Given the description of an element on the screen output the (x, y) to click on. 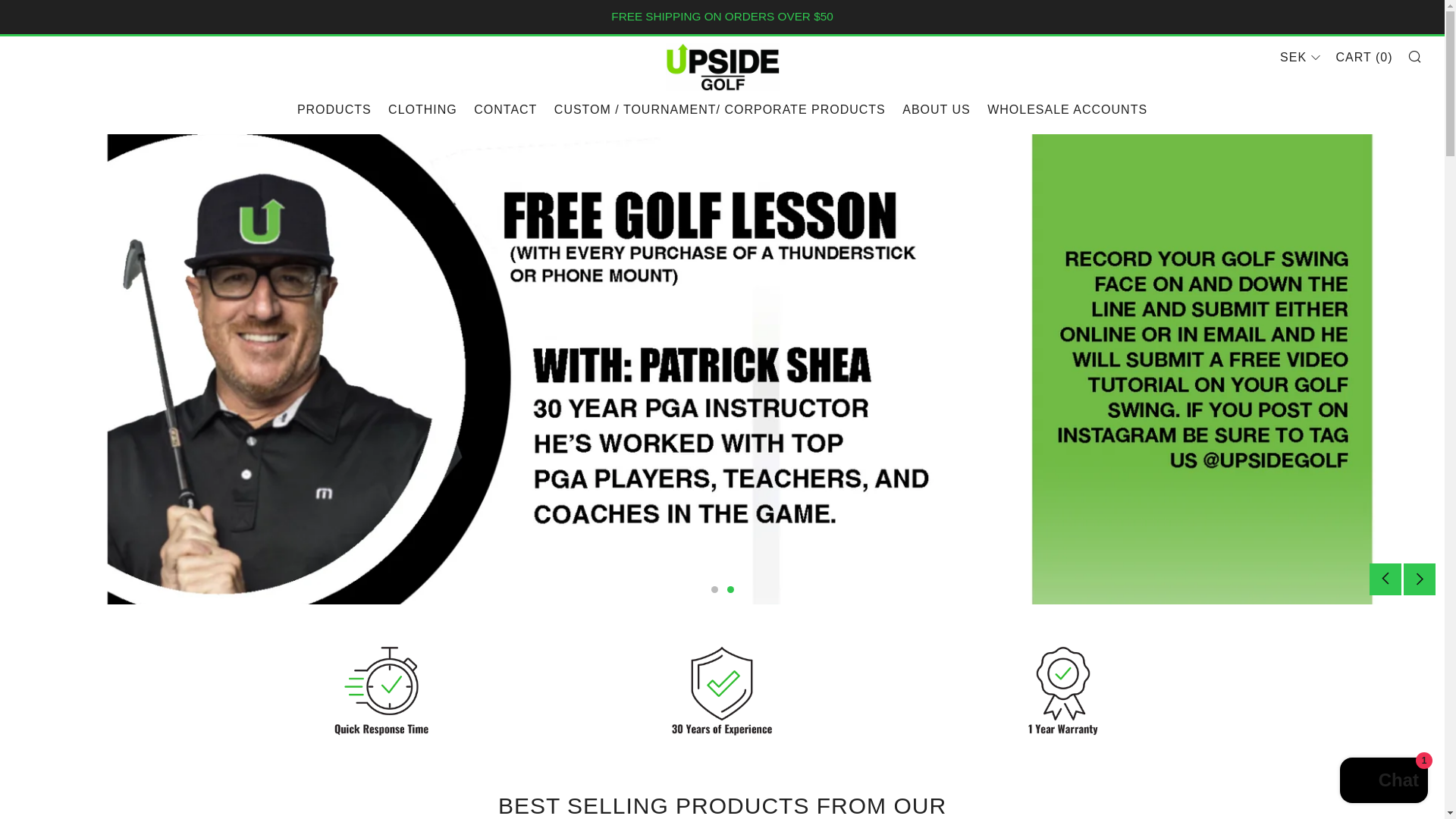
Shopify online store chat (1383, 781)
